Given the description of an element on the screen output the (x, y) to click on. 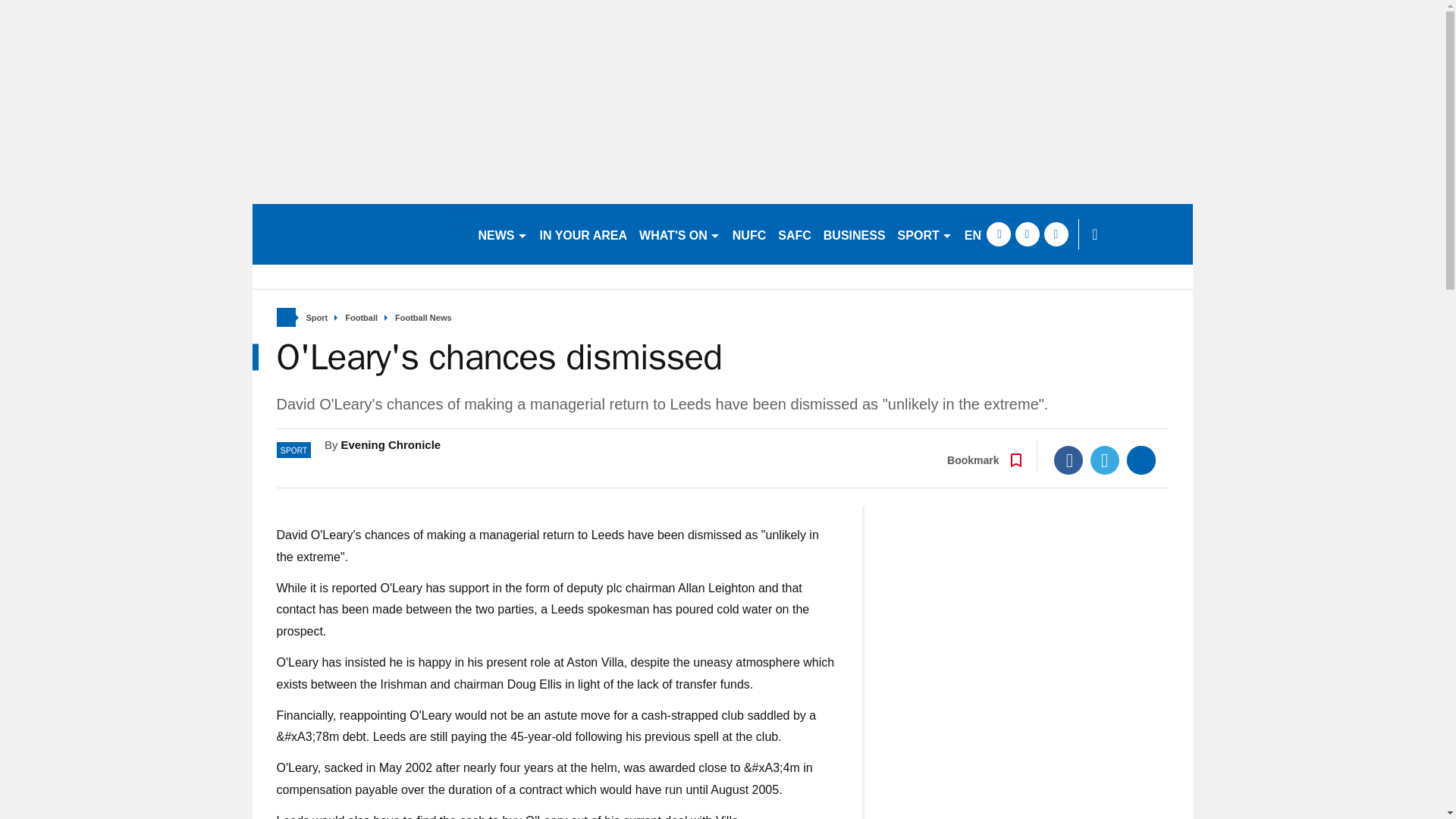
twitter (1026, 233)
Facebook (1068, 460)
nechronicle (357, 233)
BUSINESS (853, 233)
facebook (997, 233)
Twitter (1104, 460)
IN YOUR AREA (583, 233)
SPORT (924, 233)
NEWS (501, 233)
WHAT'S ON (679, 233)
